Given the description of an element on the screen output the (x, y) to click on. 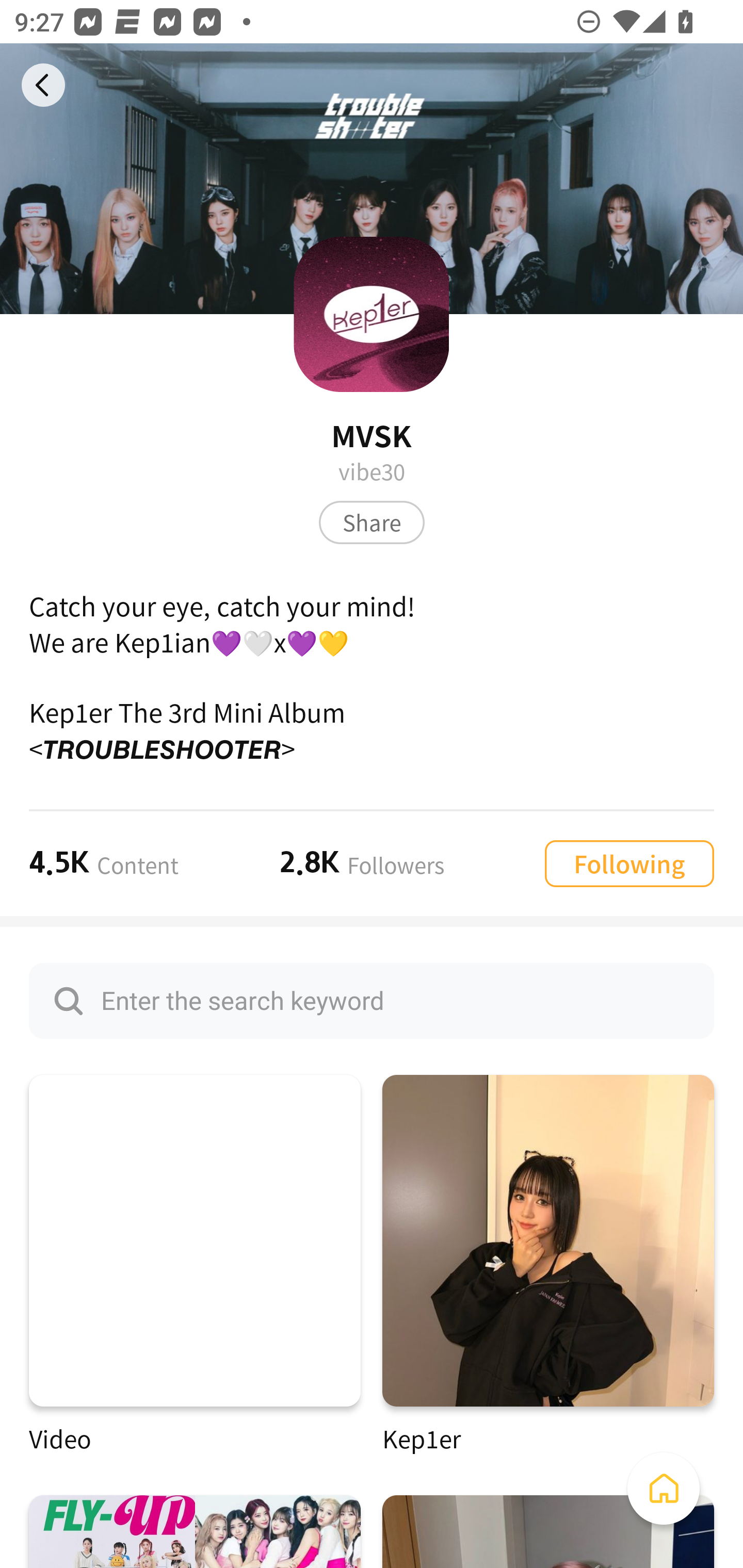
Share (371, 522)
Following (629, 863)
Enter the search keyword (371, 1000)
Video (194, 1265)
Kep1er (548, 1265)
